Given the description of an element on the screen output the (x, y) to click on. 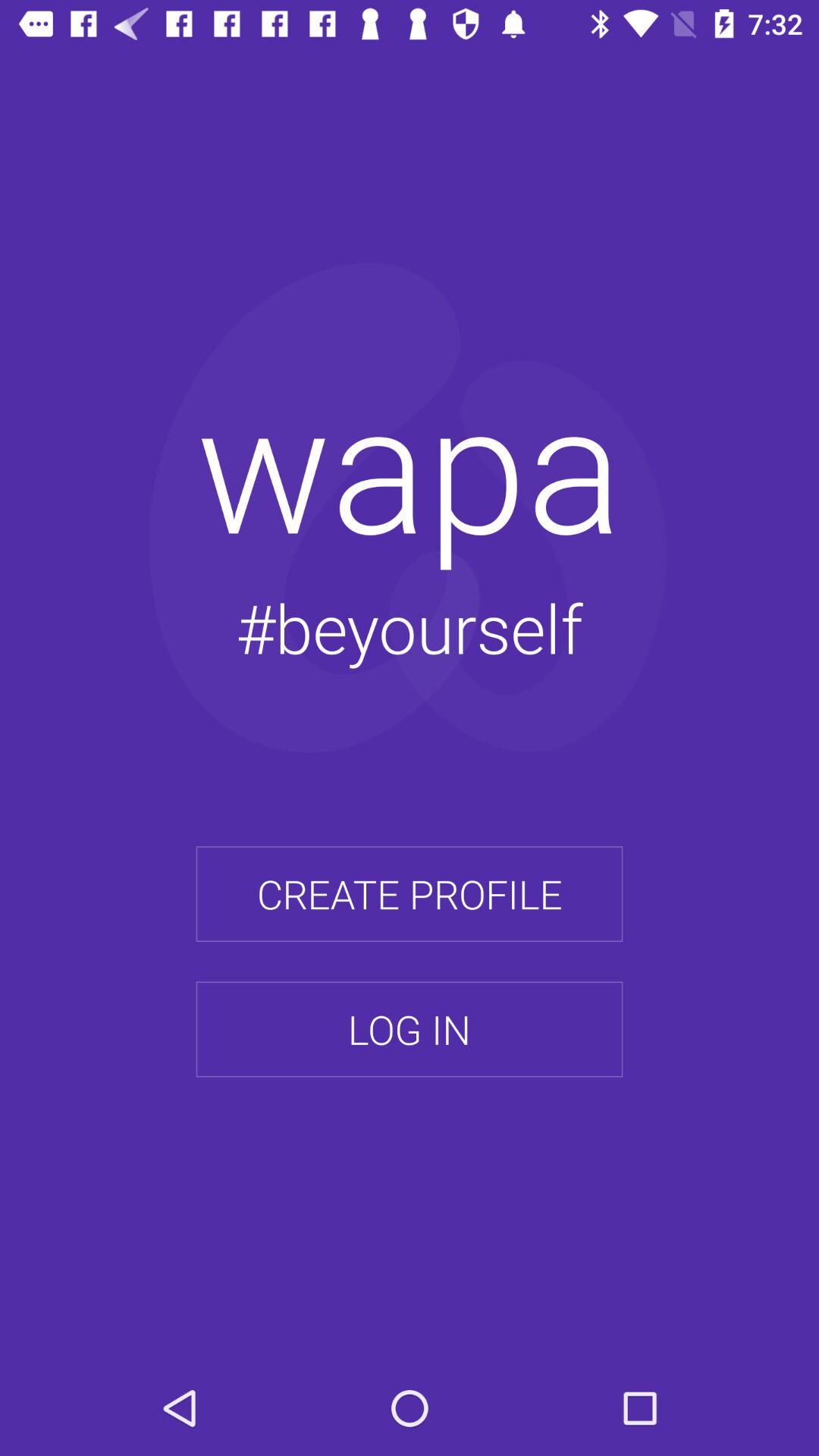
turn off the icon above the log in icon (409, 893)
